Given the description of an element on the screen output the (x, y) to click on. 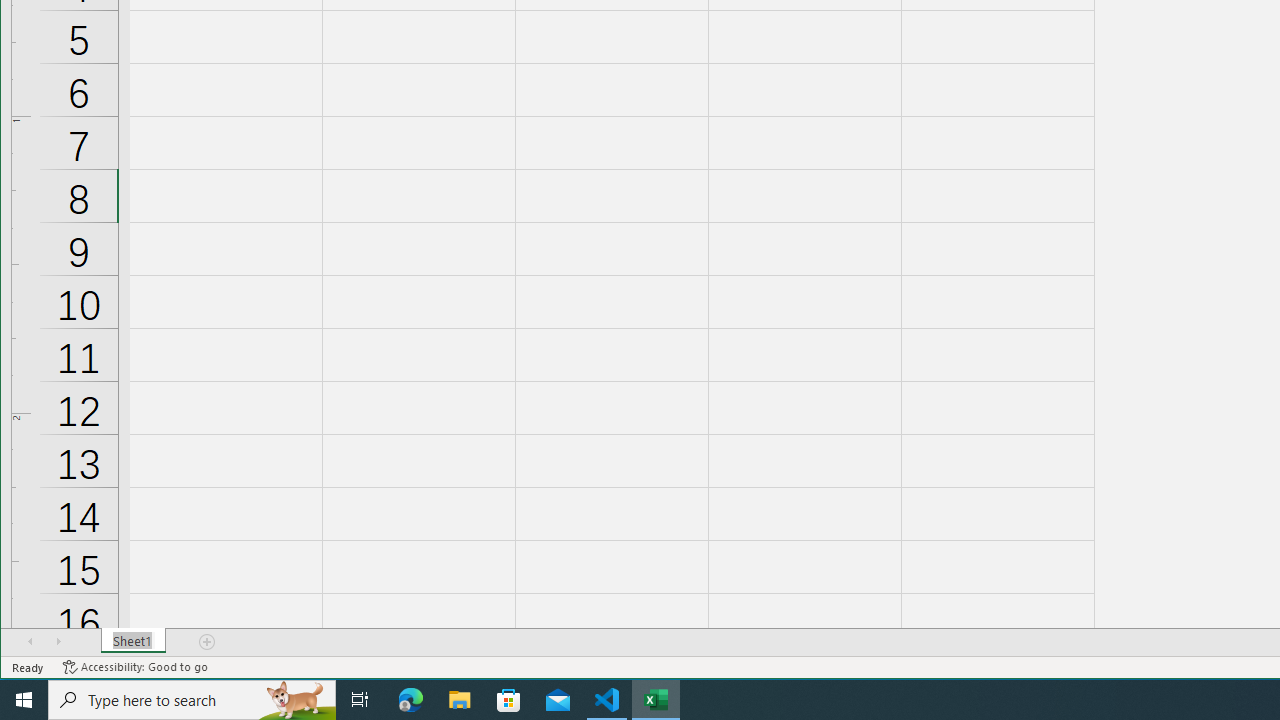
Task View (359, 699)
